Given the description of an element on the screen output the (x, y) to click on. 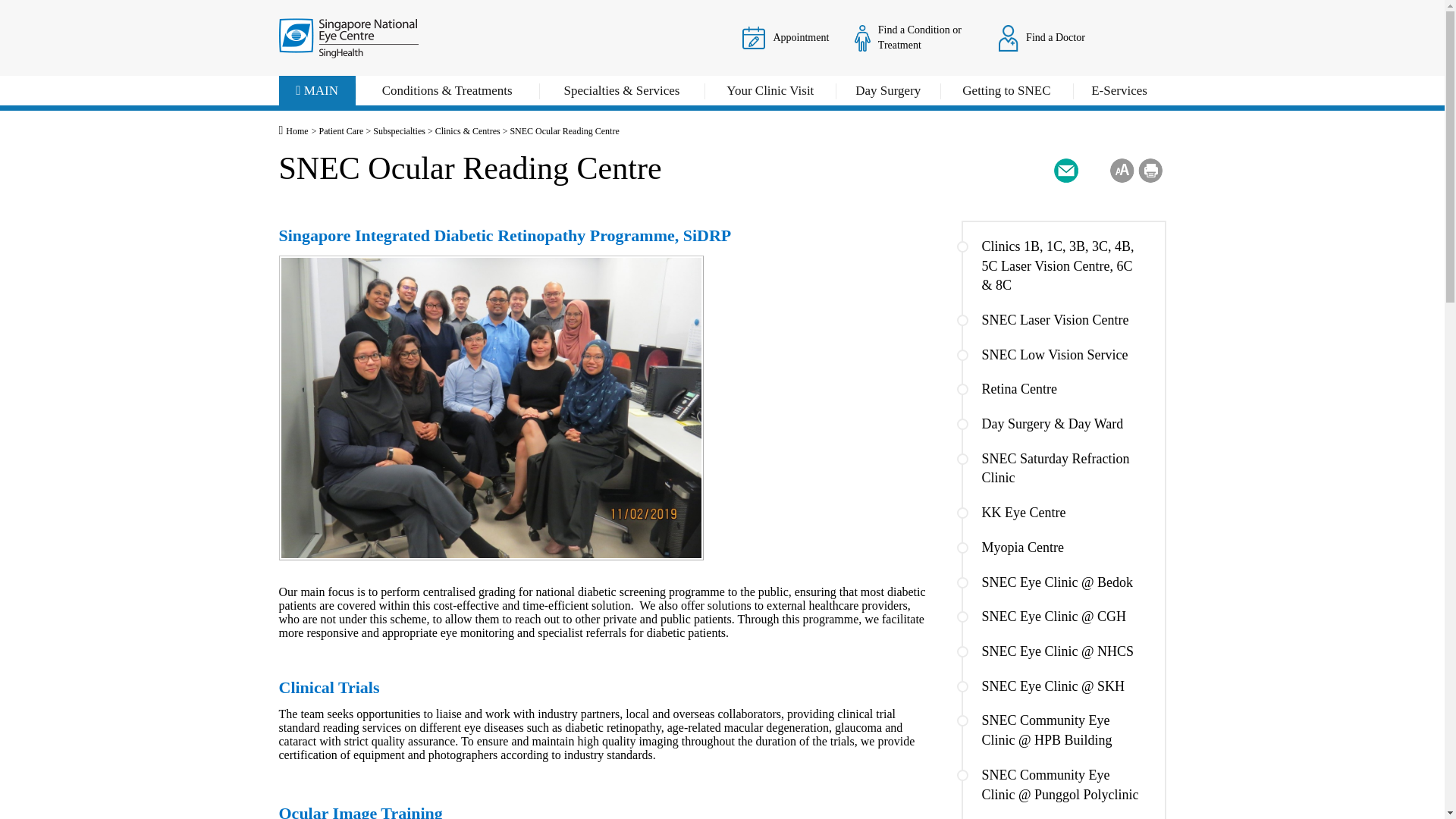
Appointment (753, 37)
Facebook (1009, 170)
MAIN (317, 93)
Find a Condition or Treatment (913, 37)
Appointment (785, 37)
Find a Doctor (1042, 37)
